Given the description of an element on the screen output the (x, y) to click on. 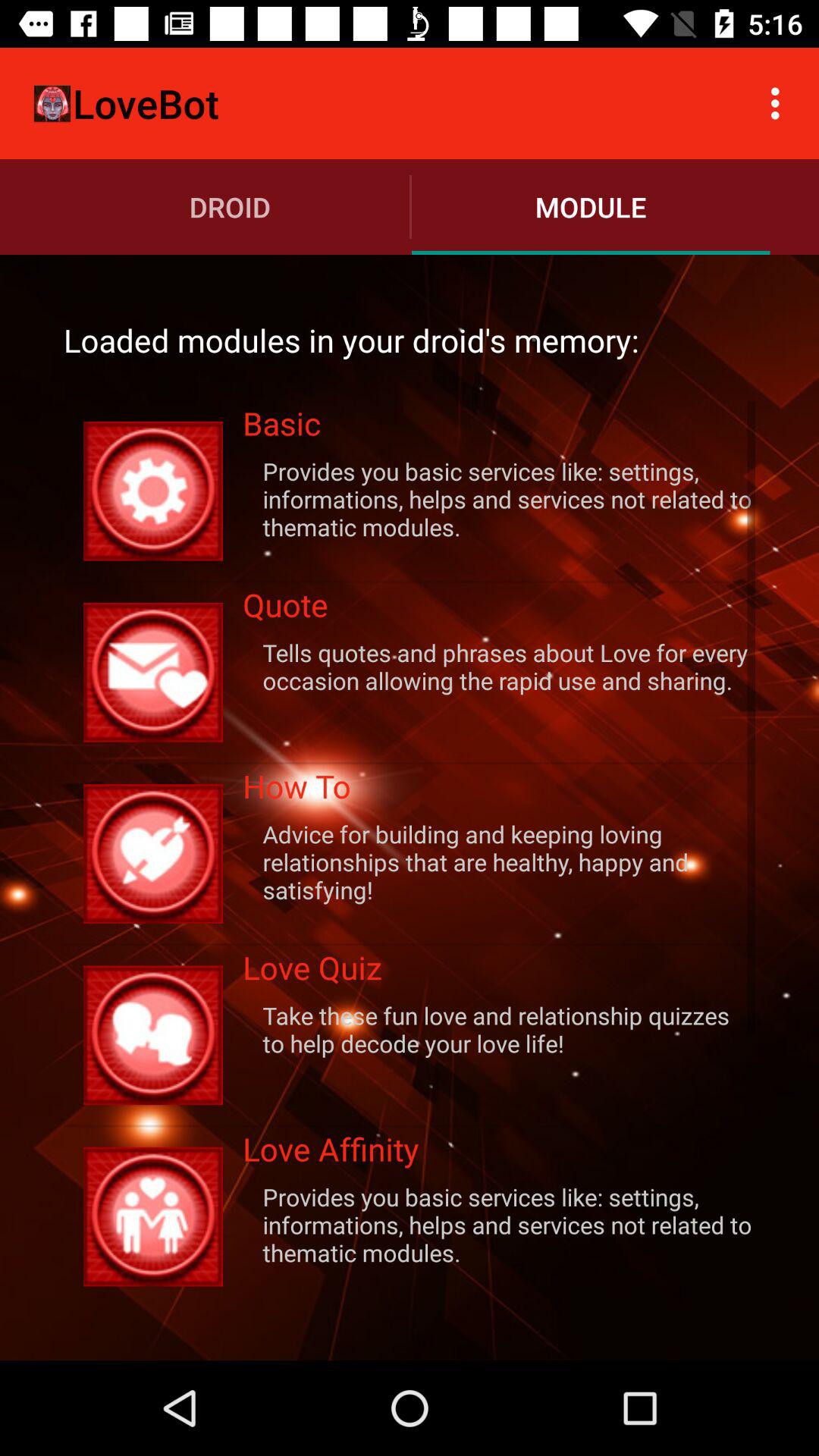
launch the icon above advice for building (498, 790)
